Given the description of an element on the screen output the (x, y) to click on. 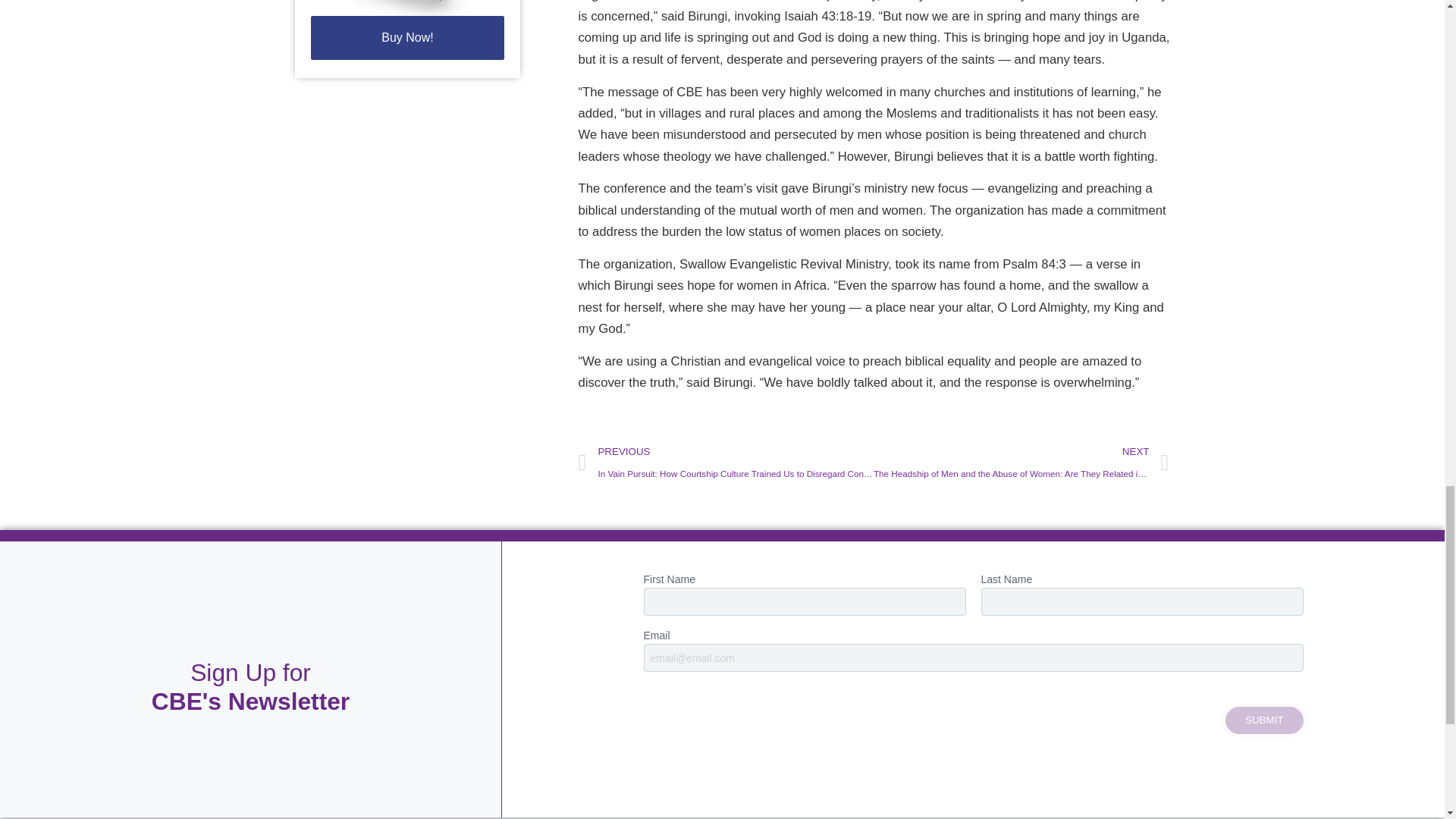
Submit (1264, 719)
